Given the description of an element on the screen output the (x, y) to click on. 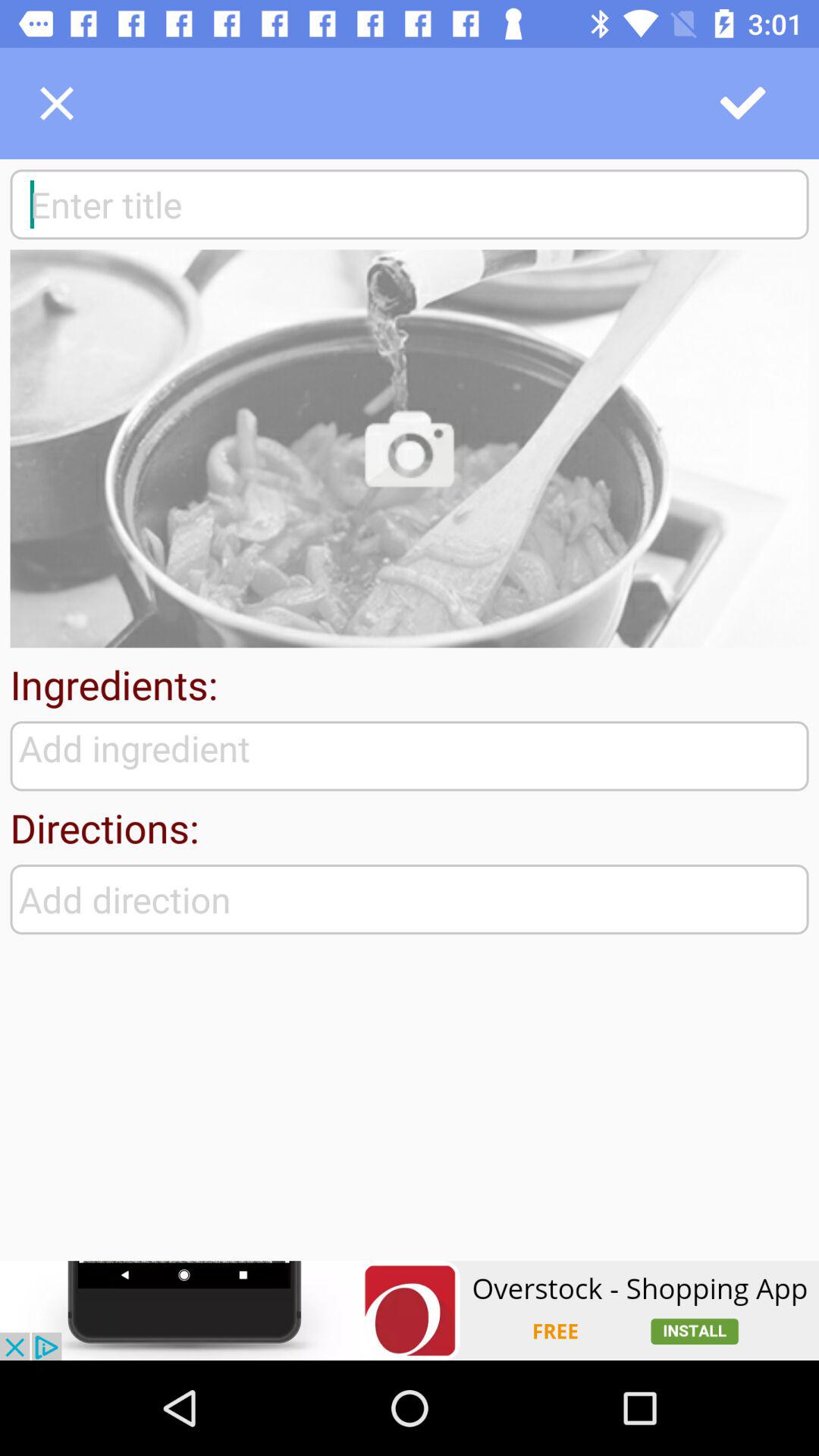
go to close (56, 103)
